Given the description of an element on the screen output the (x, y) to click on. 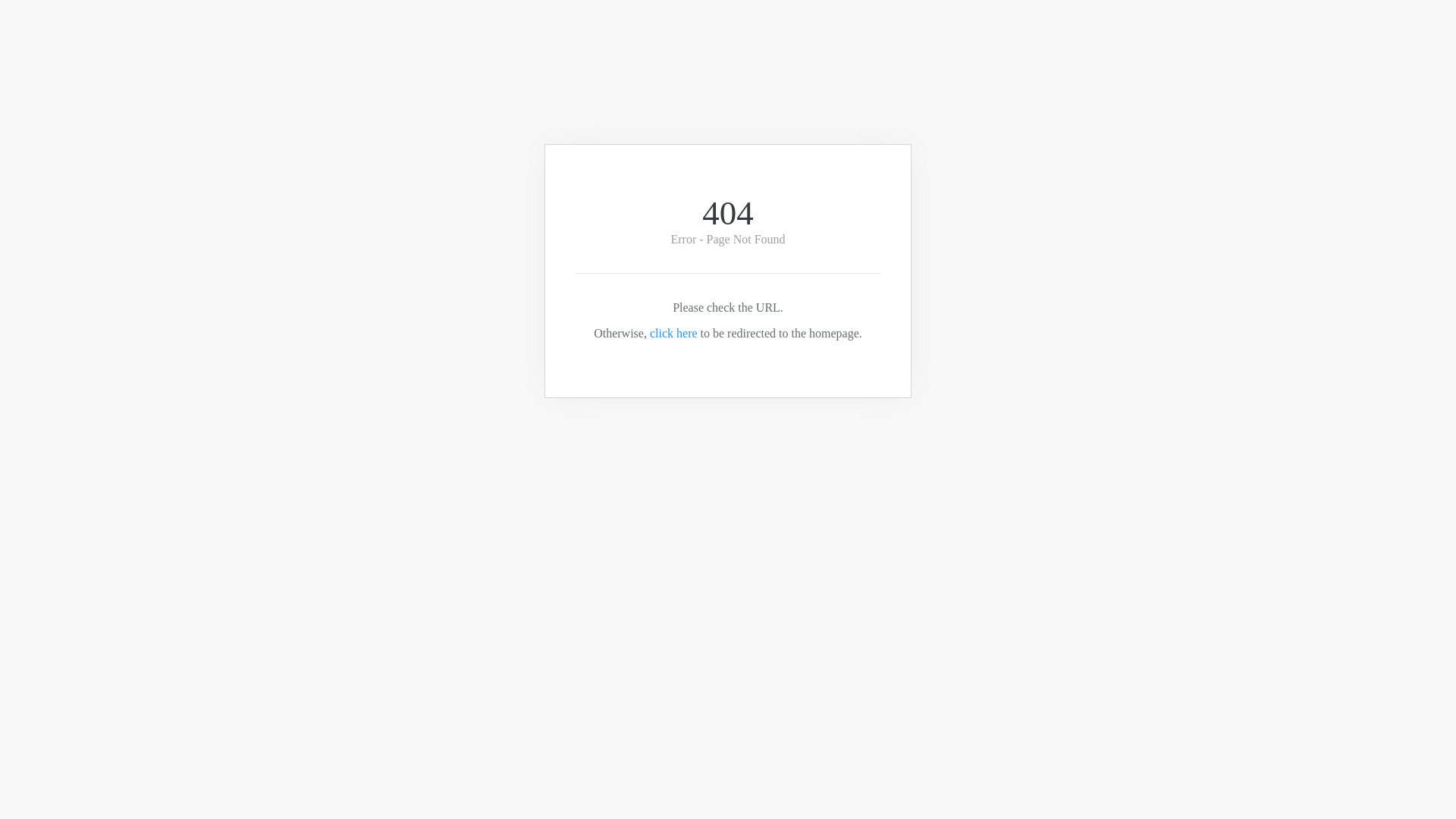
click here Element type: text (673, 332)
